Given the description of an element on the screen output the (x, y) to click on. 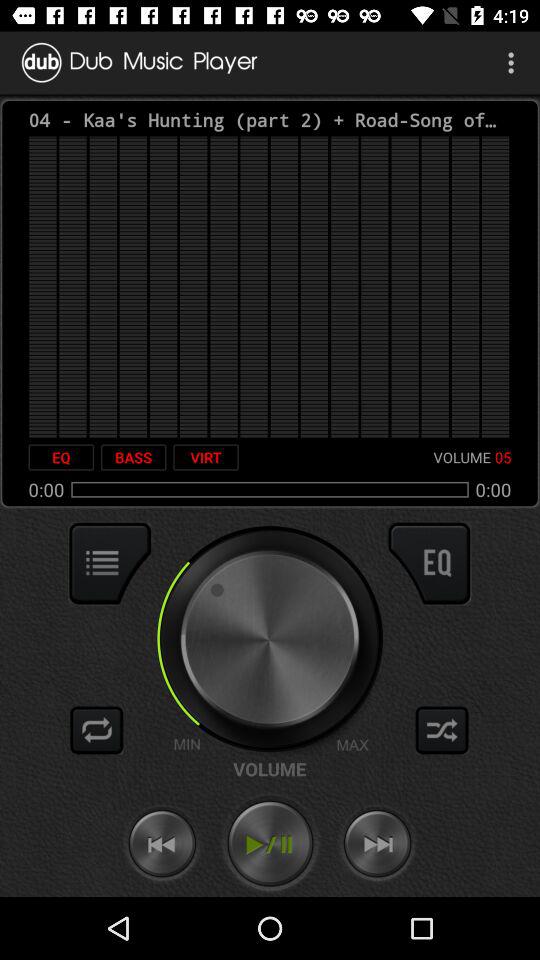
open main menu (110, 563)
